Given the description of an element on the screen output the (x, y) to click on. 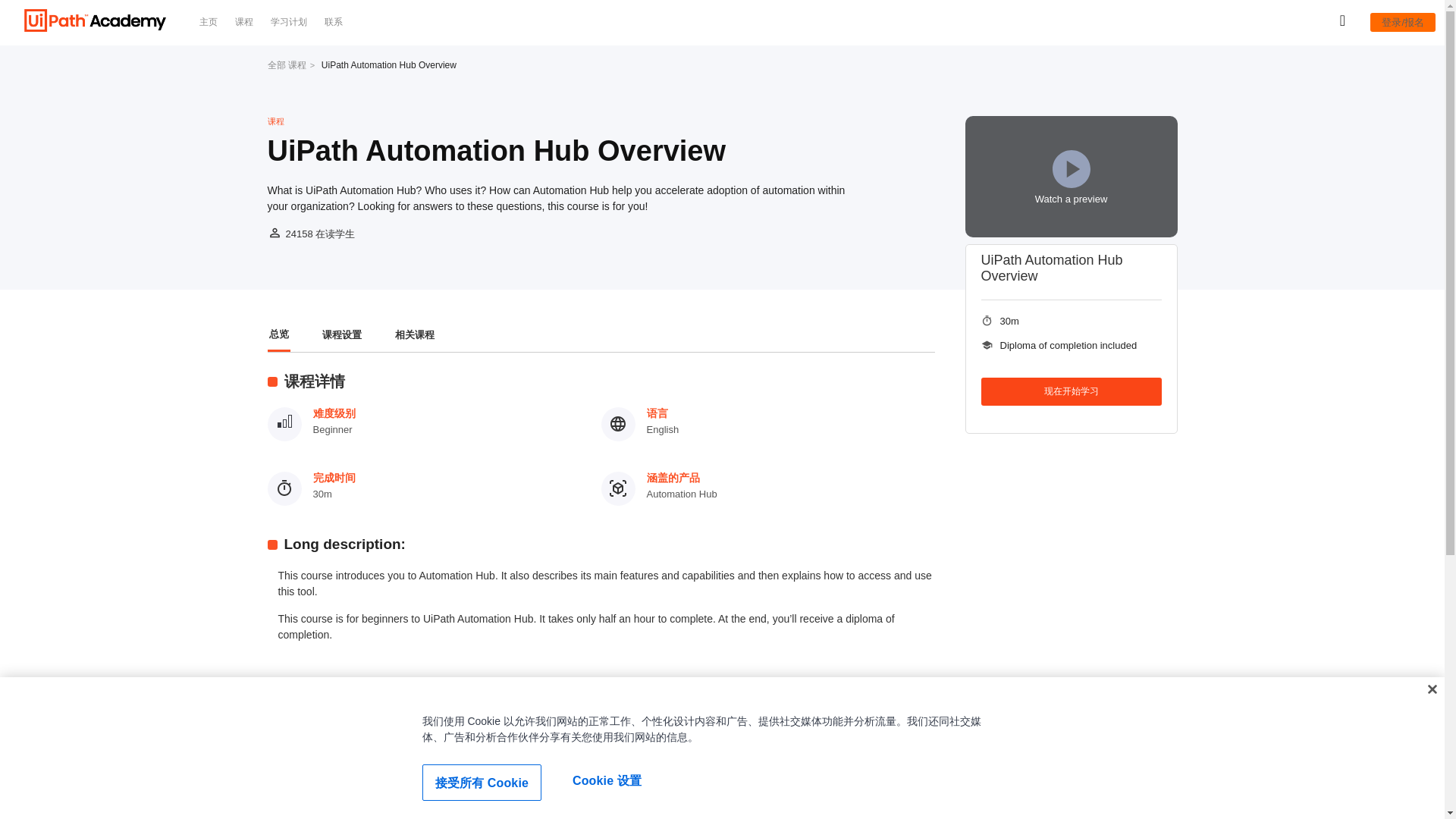
UiPath Automation Hub Overview (389, 65)
